Given the description of an element on the screen output the (x, y) to click on. 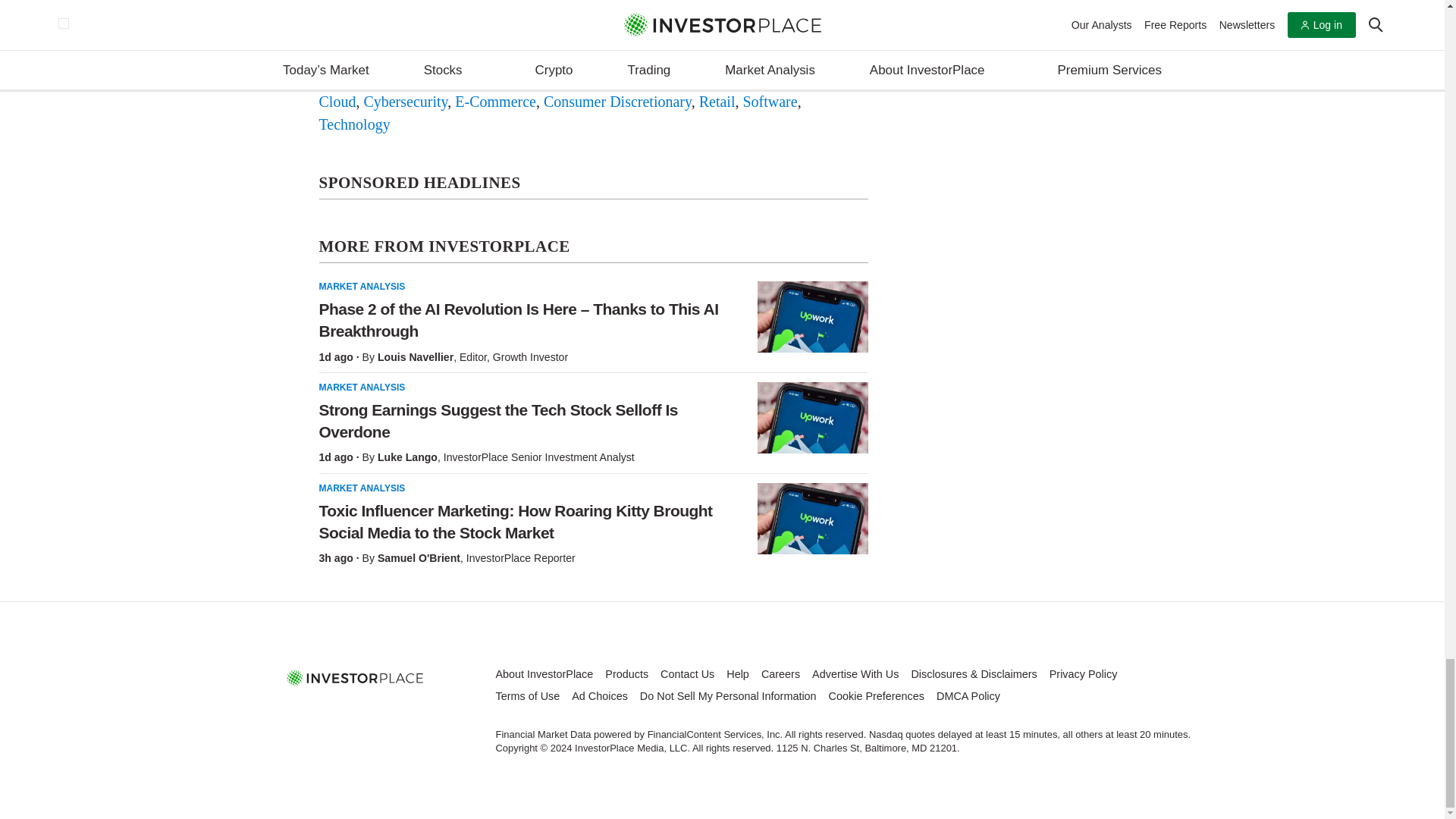
View profile of Luke Lango (407, 457)
Articles from Software industry (769, 101)
View profile of Samuel O'Brient (418, 558)
Articles from Consumer Discretionary industry (617, 101)
Articles from Retail industry (716, 101)
Articles from Cloud industry (336, 101)
Articles from Technology industry (354, 124)
Visit our Facebook Page (319, 711)
Articles from E-Commerce industry (494, 101)
Strong Earnings Suggest the Tech Stock Selloff Is Overdone (812, 417)
Articles from Cybersecurity industry (404, 101)
Visit our Twitter page (354, 711)
View profile of Louis Navellier (414, 357)
